Given the description of an element on the screen output the (x, y) to click on. 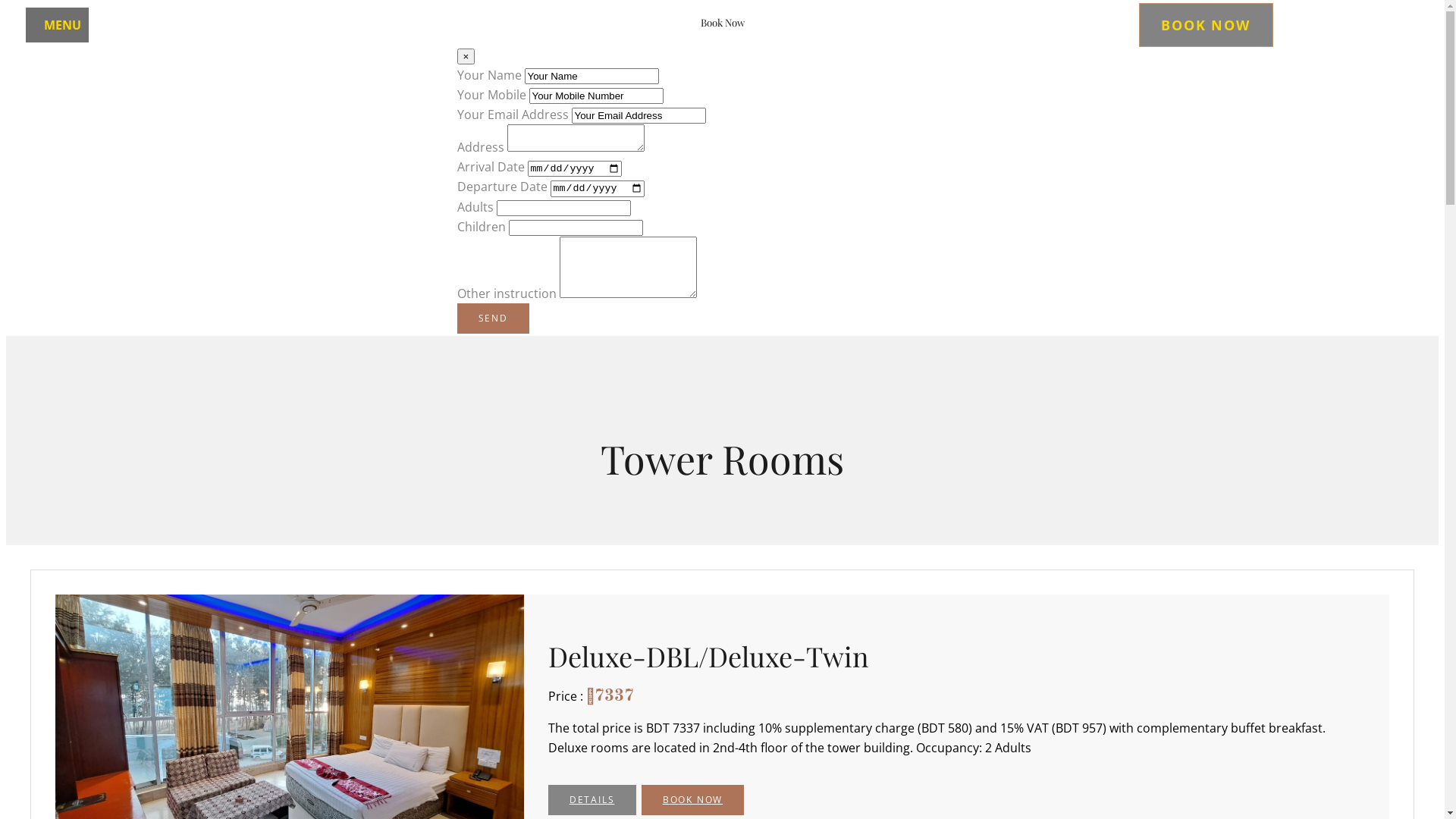
DETAILS Element type: text (592, 799)
SEND Element type: text (492, 318)
BOOK NOW Element type: text (692, 799)
BOOK NOW Element type: text (1206, 25)
